Given the description of an element on the screen output the (x, y) to click on. 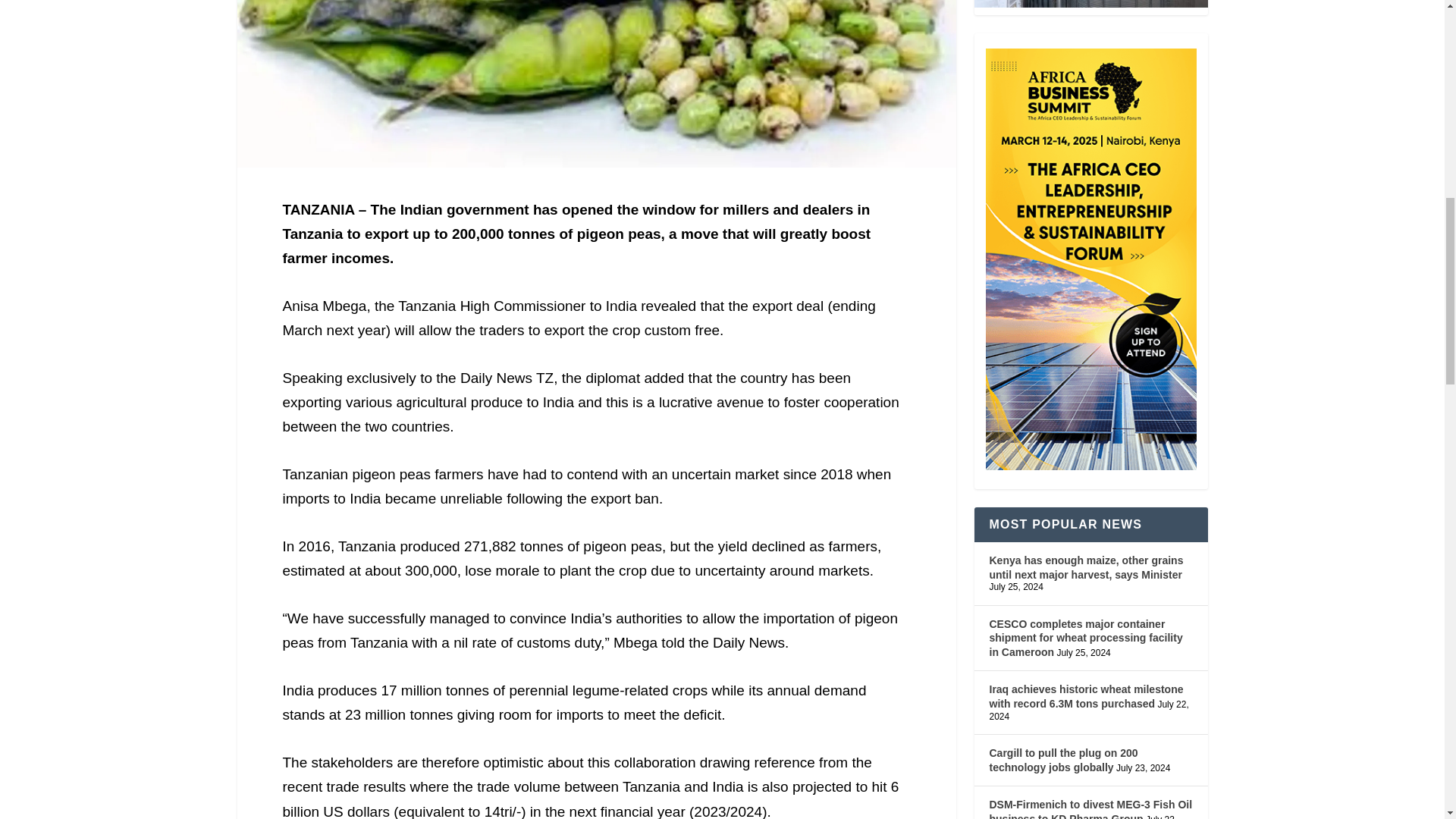
LATEST DIGITAL MAGAZINE (1090, 3)
